Given the description of an element on the screen output the (x, y) to click on. 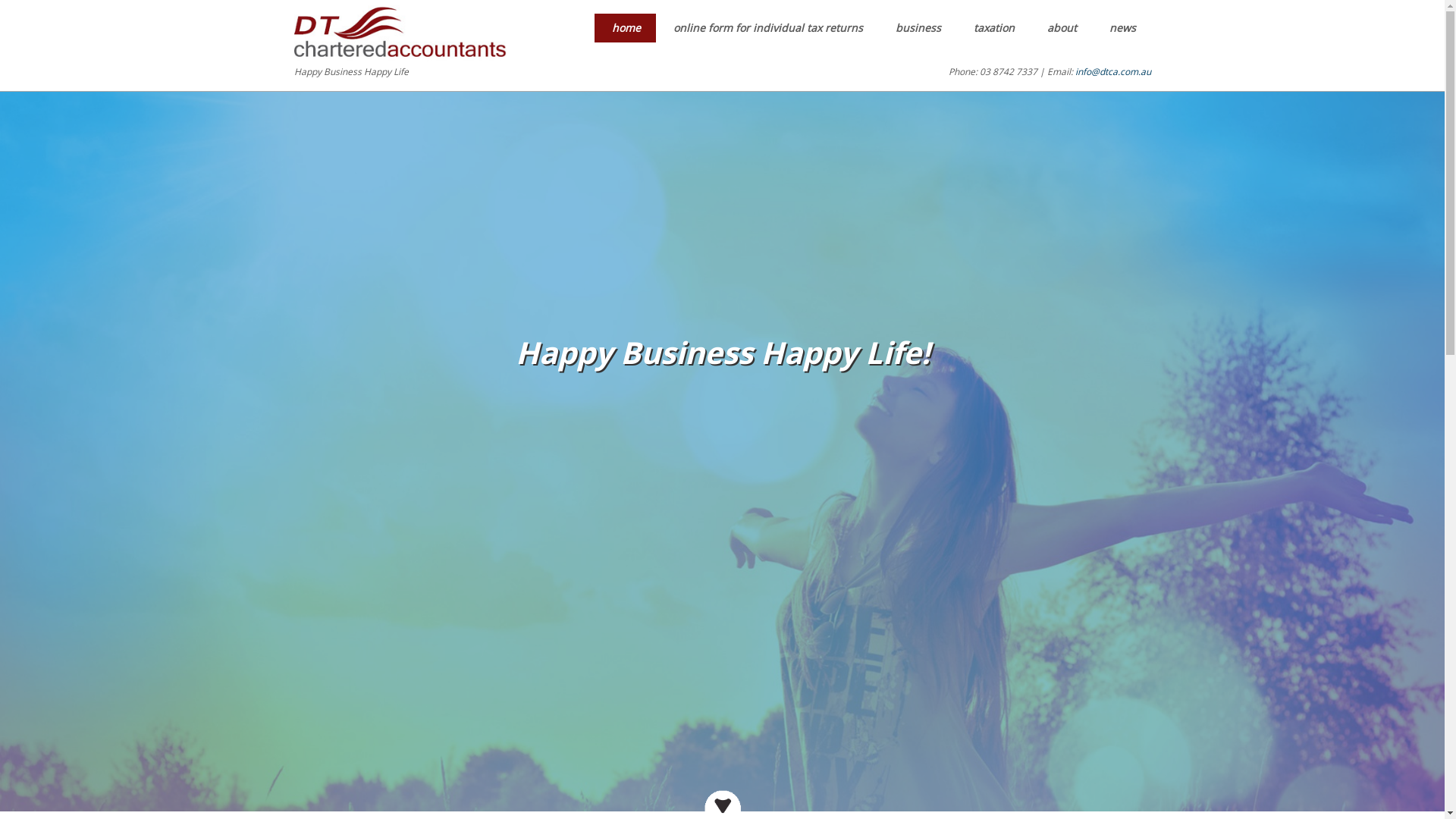
home Element type: text (624, 27)
online form for individual tax returns Element type: text (766, 27)
business Element type: text (917, 27)
taxation Element type: text (992, 27)
about Element type: text (1060, 27)
info@dtca.com.au Element type: text (1113, 71)
news Element type: text (1121, 27)
